Given the description of an element on the screen output the (x, y) to click on. 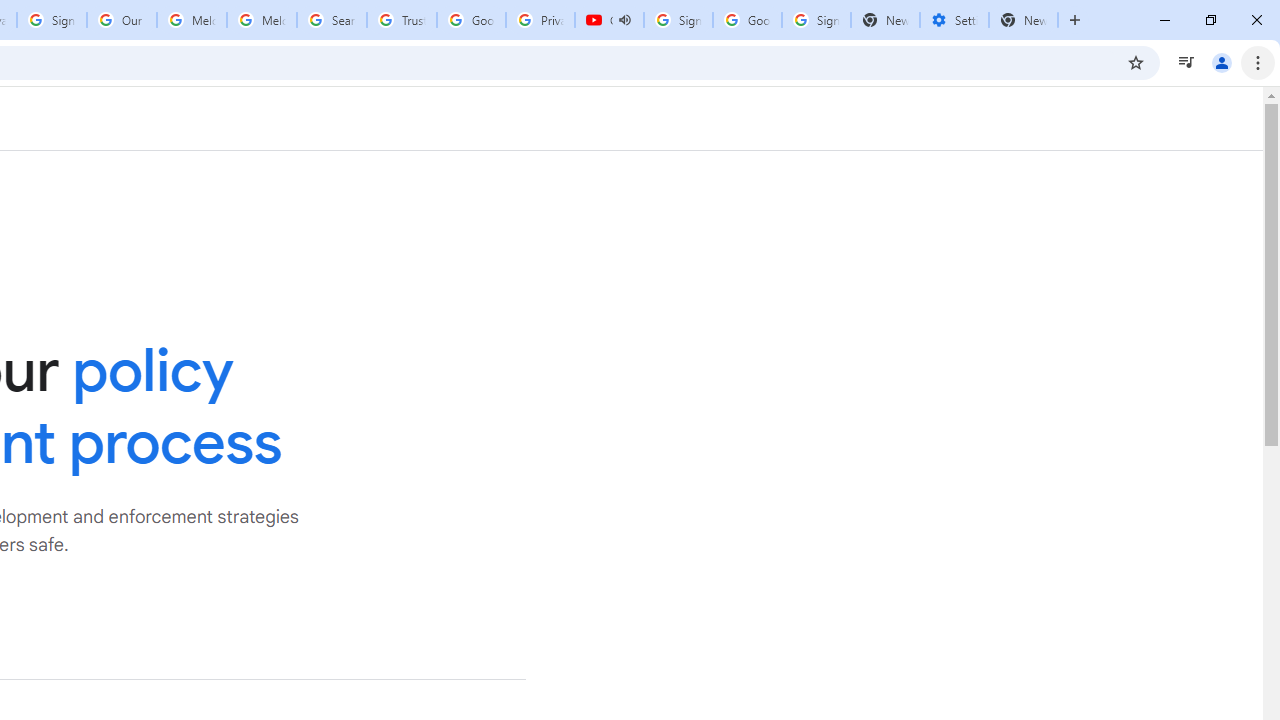
Trusted Information and Content - Google Safety Center (401, 20)
